Given the description of an element on the screen output the (x, y) to click on. 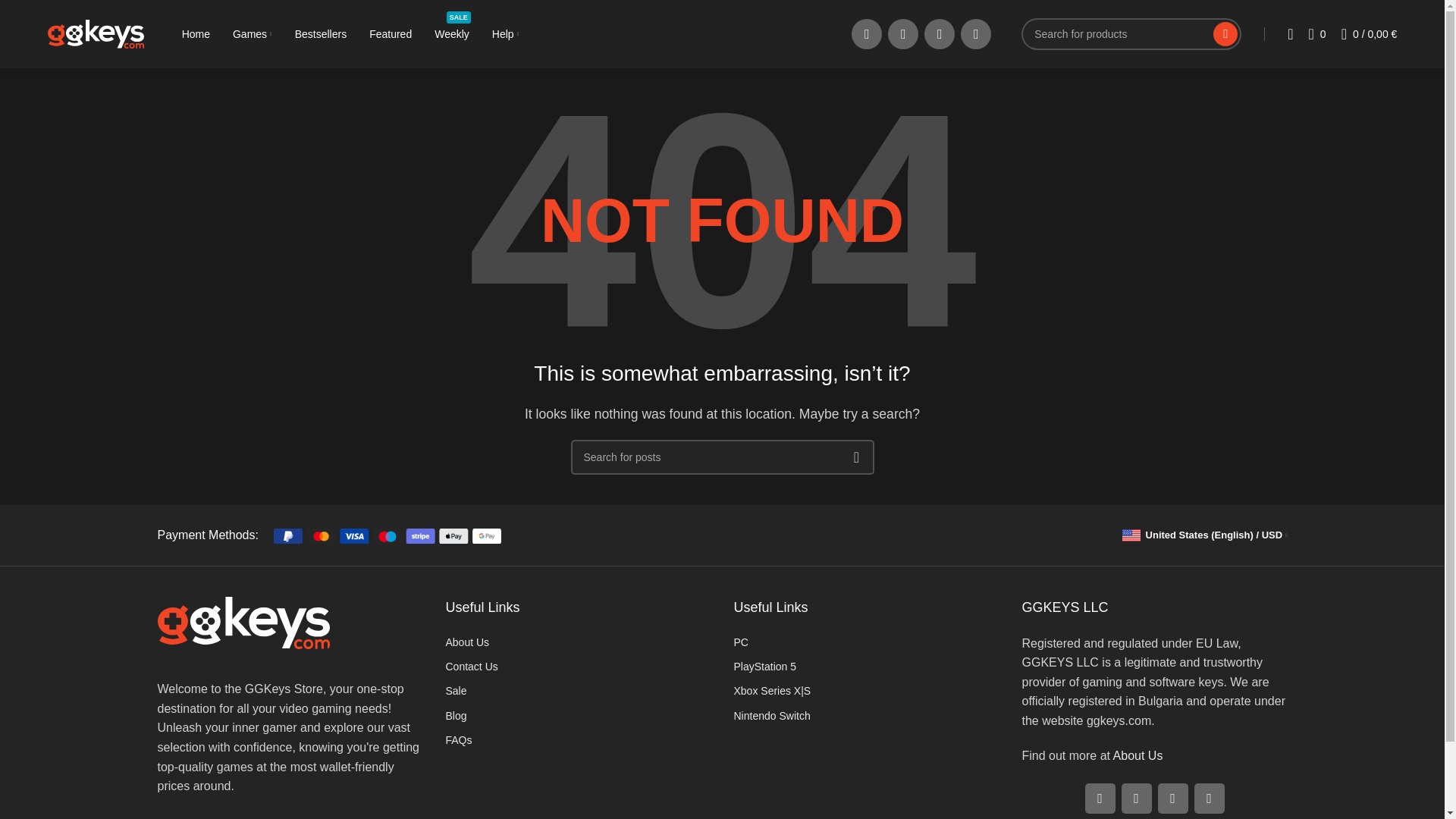
Help (505, 33)
Shopping cart (1369, 33)
My Wishlist (1317, 33)
Search for posts (721, 457)
Home (450, 33)
Search for products (195, 33)
Search for posts (1131, 33)
GGKEYS Website Logo (1289, 33)
Games (243, 623)
Bestsellers (252, 33)
Featured (320, 33)
wd-furniture-flag-usa (390, 33)
